Given the description of an element on the screen output the (x, y) to click on. 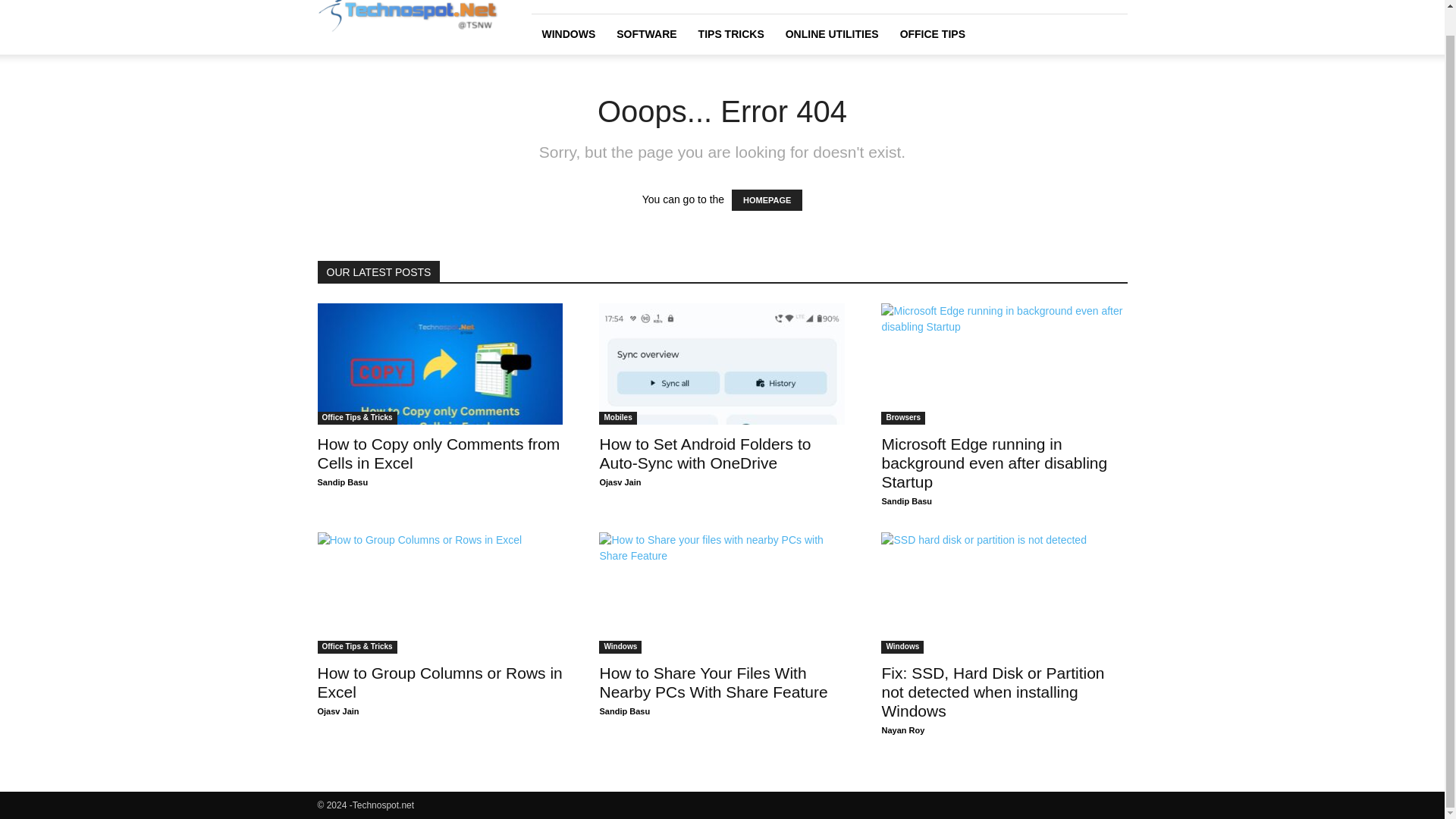
Ojasv Jain (619, 481)
How to Copy only Comments from Cells in Excel (439, 364)
How to Copy only Comments from Cells in Excel (438, 452)
How to Set Android Folders to Auto-Sync with OneDrive (721, 364)
How to Set Android Folders to Auto-Sync with OneDrive (704, 452)
How to Copy only Comments from Cells in Excel (438, 452)
Search (1085, 47)
How to Set Android Folders to Auto-Sync with OneDrive (704, 452)
